Given the description of an element on the screen output the (x, y) to click on. 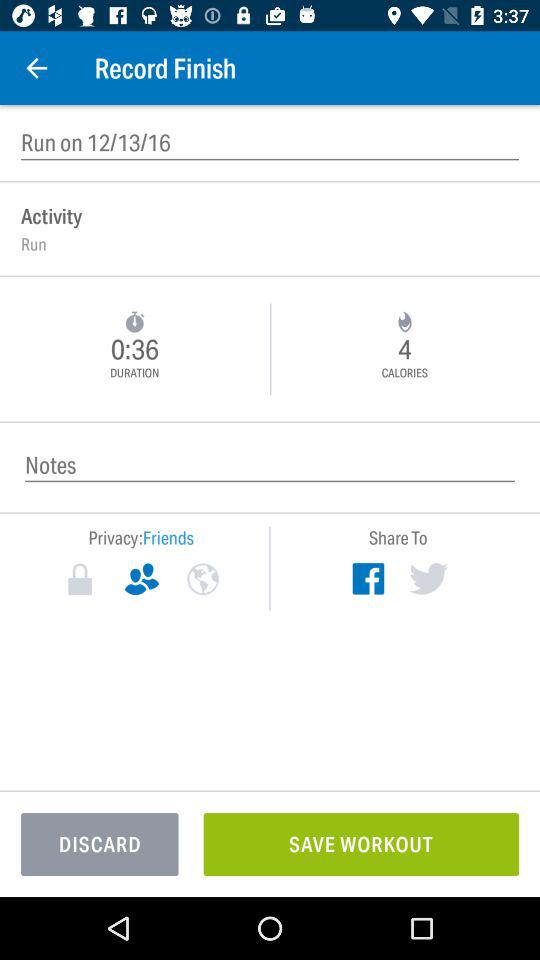
tap item at the bottom right corner (361, 844)
